Given the description of an element on the screen output the (x, y) to click on. 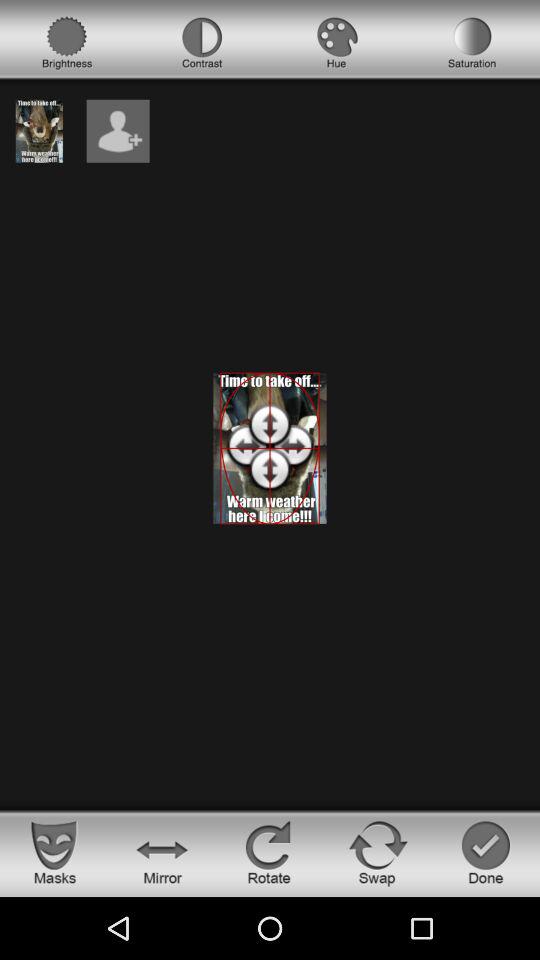
toggle contrast option (202, 43)
